Given the description of an element on the screen output the (x, y) to click on. 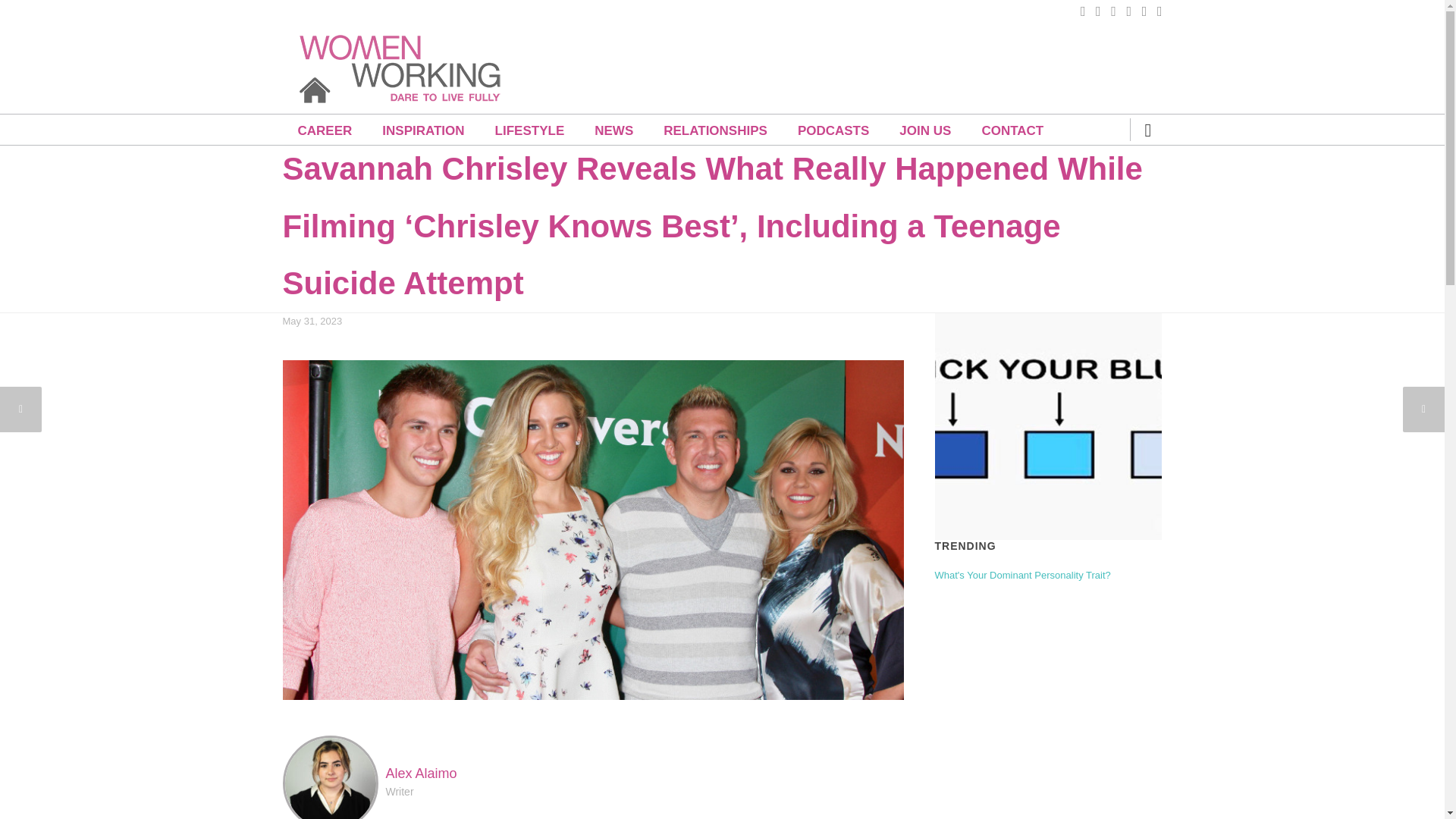
JOIN US (924, 131)
CONTACT (1012, 131)
LIFESTYLE (529, 131)
RELATIONSHIPS (715, 131)
CAREER (324, 131)
Advertisement (885, 57)
PODCASTS (833, 131)
Advertisement (1047, 708)
INSPIRATION (422, 131)
NEWS (613, 131)
